Given the description of an element on the screen output the (x, y) to click on. 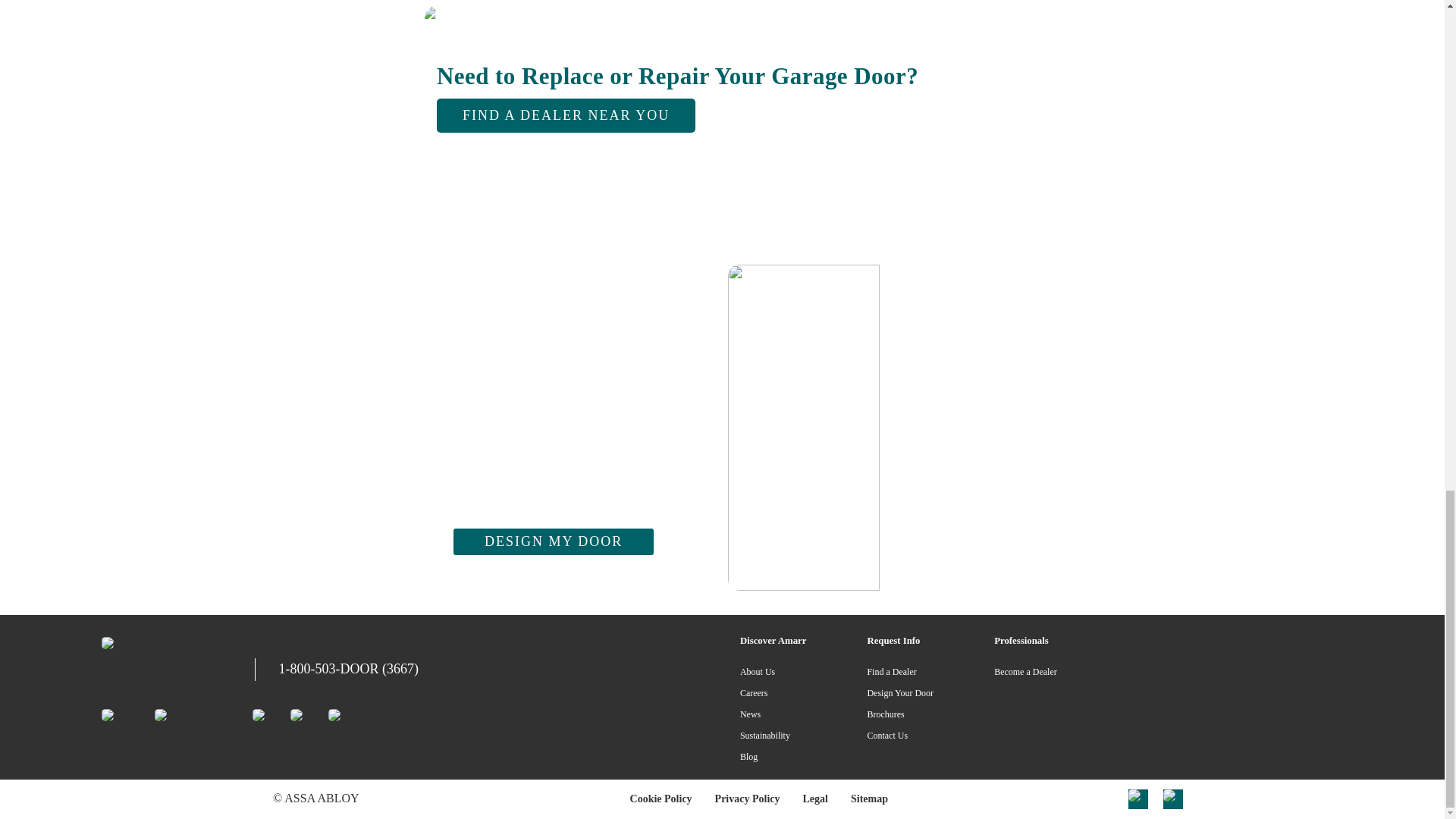
Discover Amarr (772, 640)
FIND A DEALER NEAR YOU (565, 115)
About Us (756, 671)
DESIGN MY DOOR (553, 541)
